Given the description of an element on the screen output the (x, y) to click on. 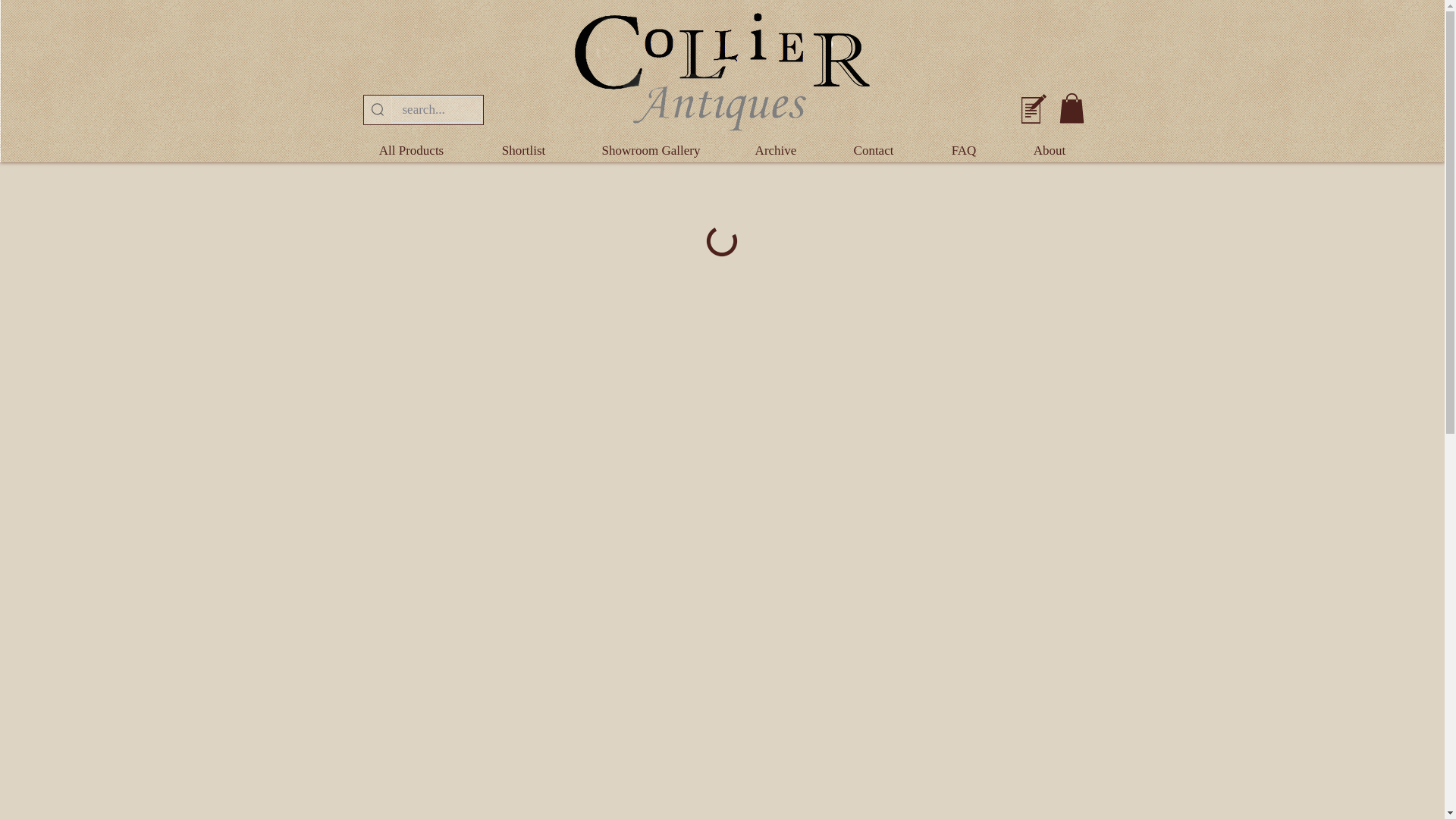
Shortlist (522, 150)
FAQ (962, 150)
About (1048, 150)
Archive (775, 150)
Showroom Gallery (650, 150)
Contact (872, 150)
All Products (410, 150)
